Given the description of an element on the screen output the (x, y) to click on. 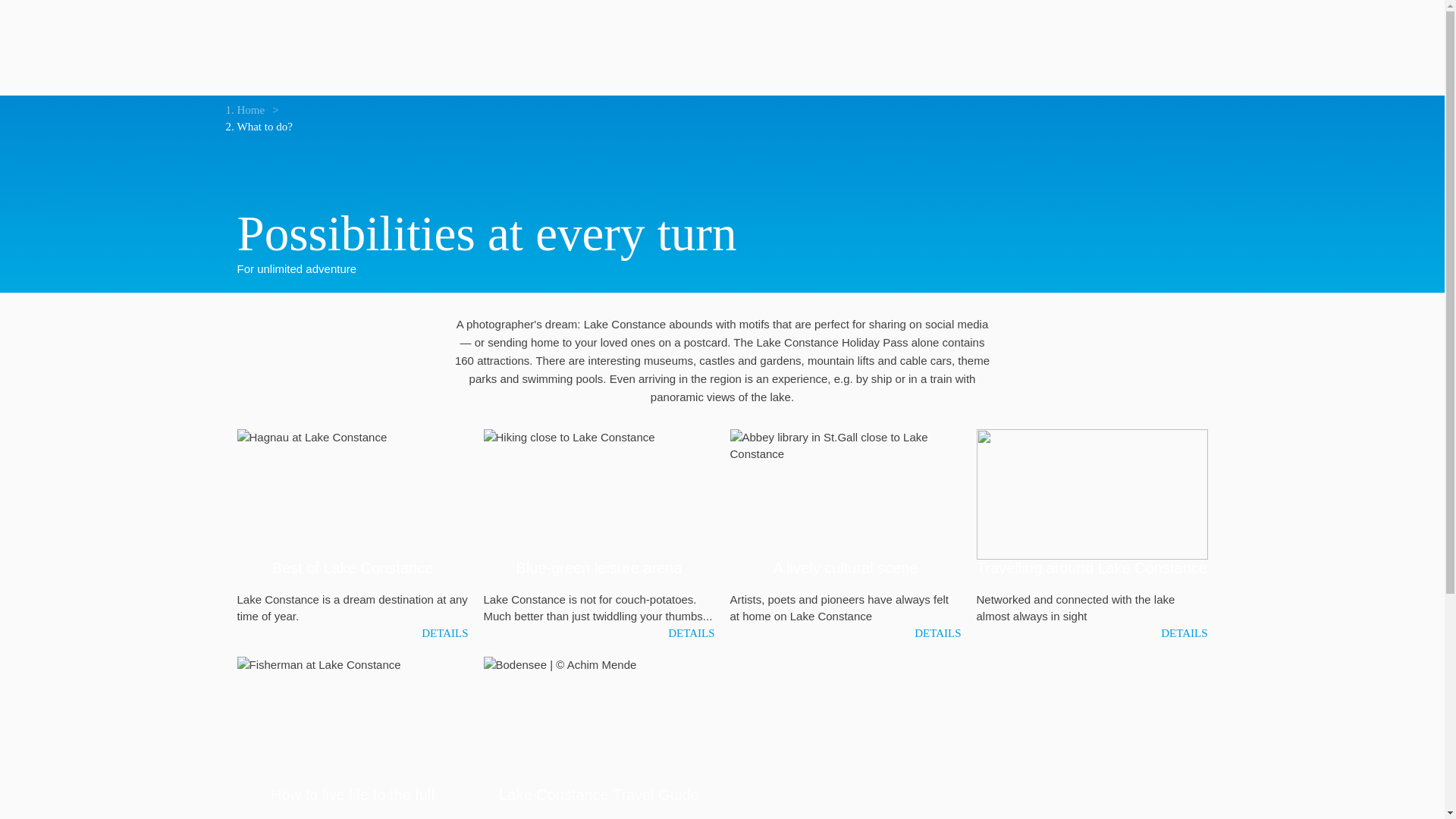
Hiking close to Lake Constance (598, 494)
Fisherman at Lake Constance (351, 721)
Hagnau at Lake Constance (351, 494)
Abbey library in St.Gall close to Lake Constance (844, 494)
